Given the description of an element on the screen output the (x, y) to click on. 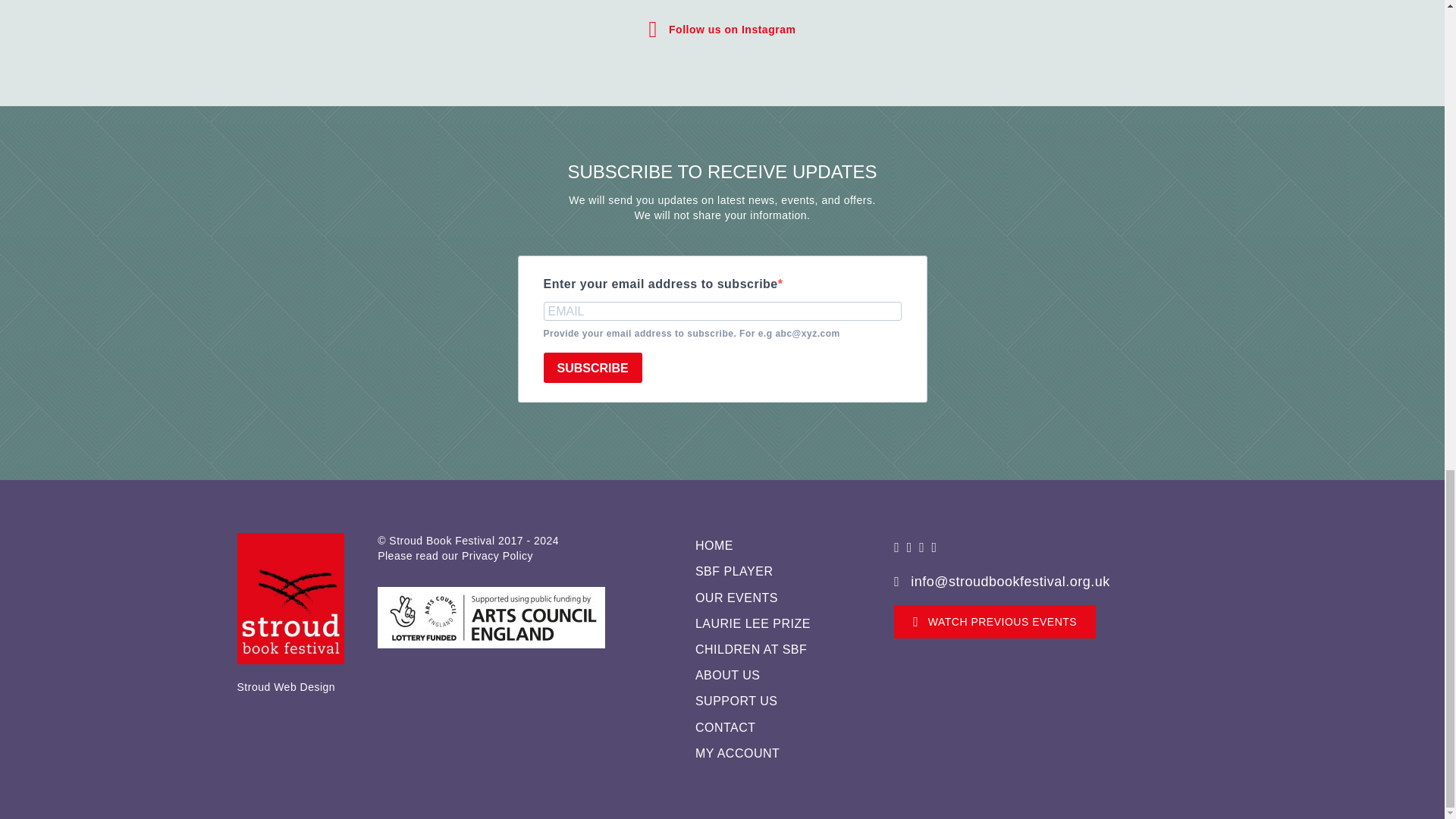
image 5 (491, 617)
